Given the description of an element on the screen output the (x, y) to click on. 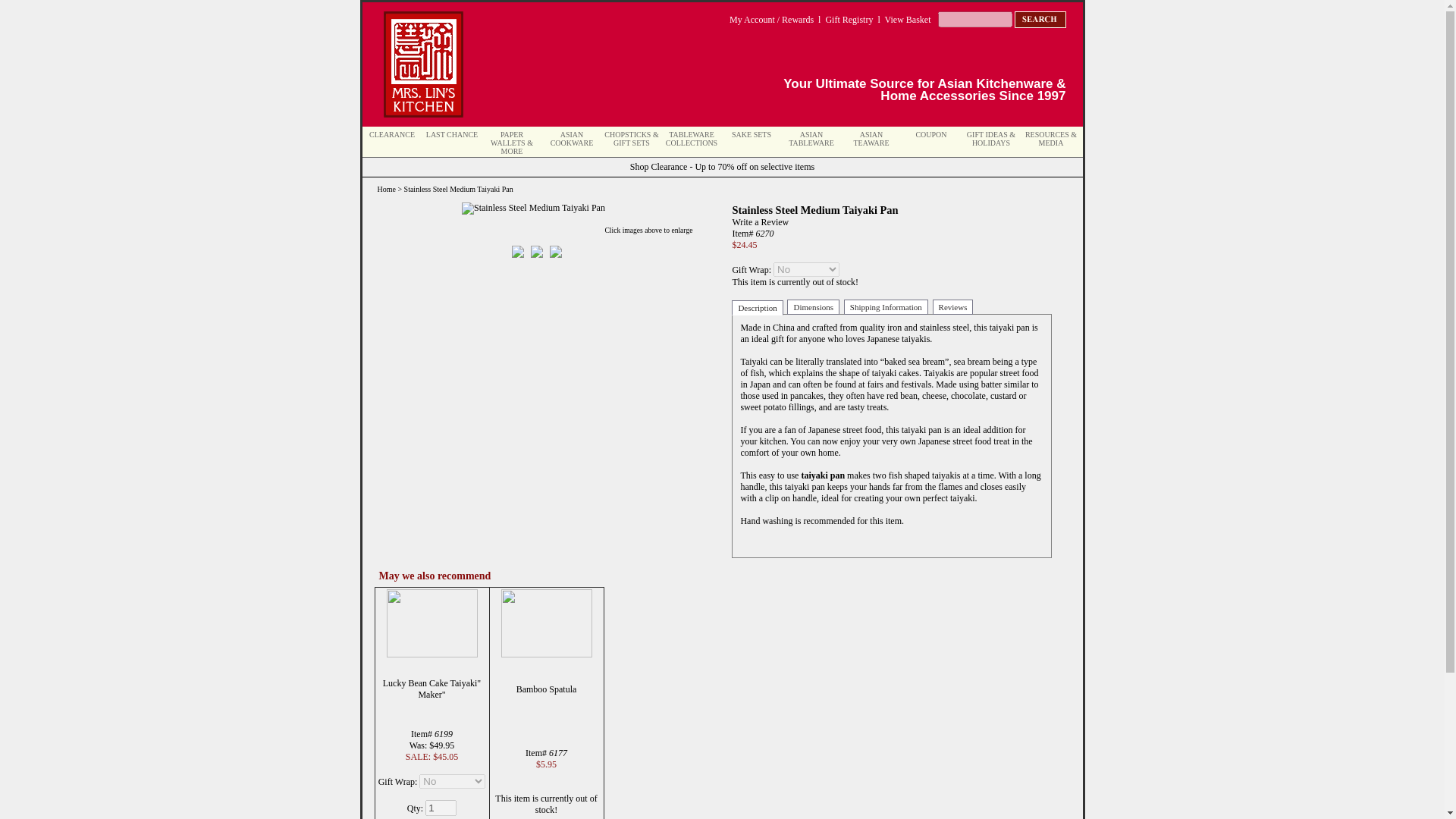
View Basket (908, 19)
1 (441, 806)
Asian Cookware (572, 138)
Clearance (391, 134)
Last Chance (451, 134)
CLEARANCE (391, 134)
Gift Registry (848, 19)
Tableware Collections (691, 138)
Asian Tableware (811, 138)
LAST CHANCE (451, 134)
